Given the description of an element on the screen output the (x, y) to click on. 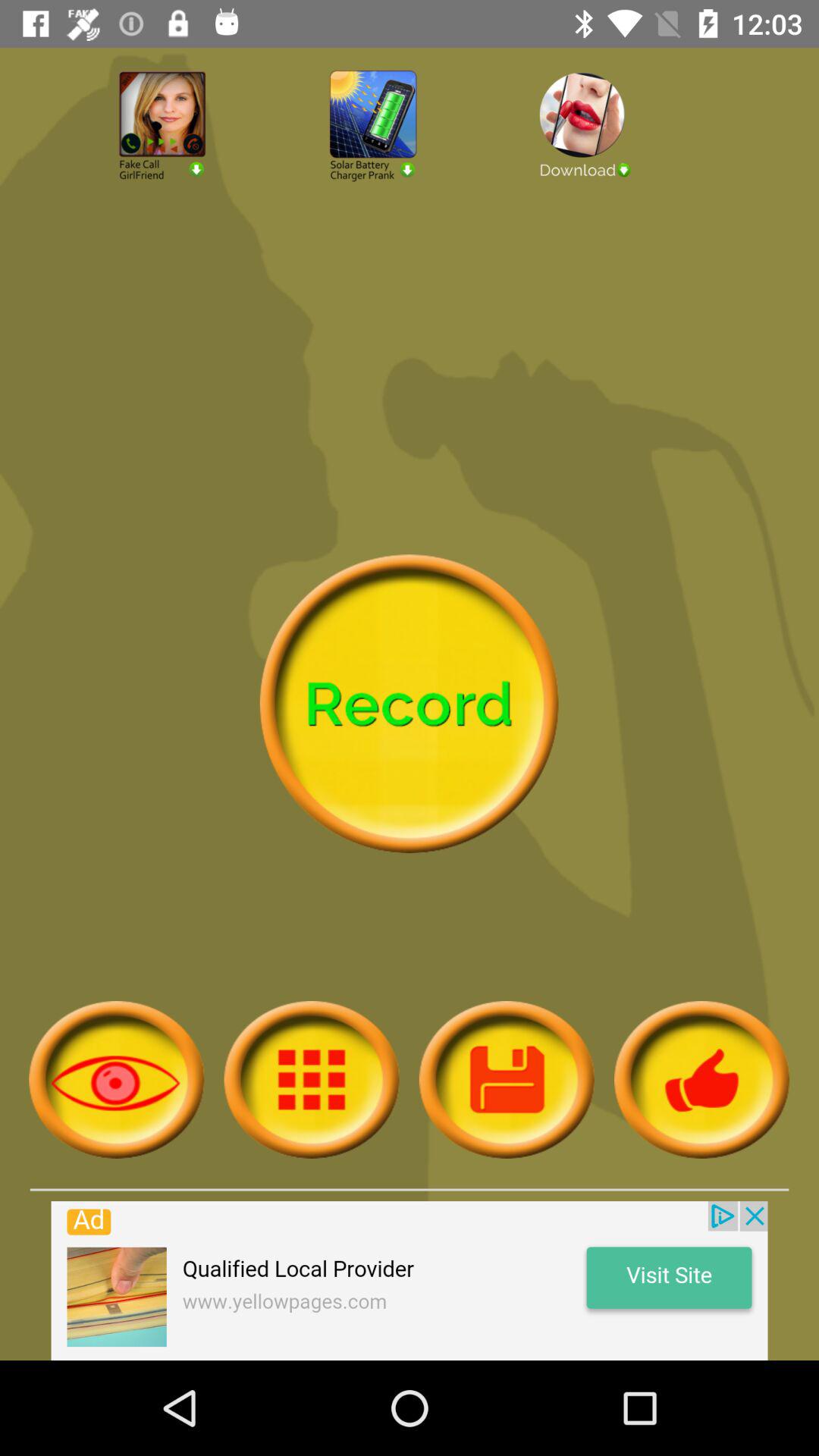
toggle advertisement (619, 166)
